Given the description of an element on the screen output the (x, y) to click on. 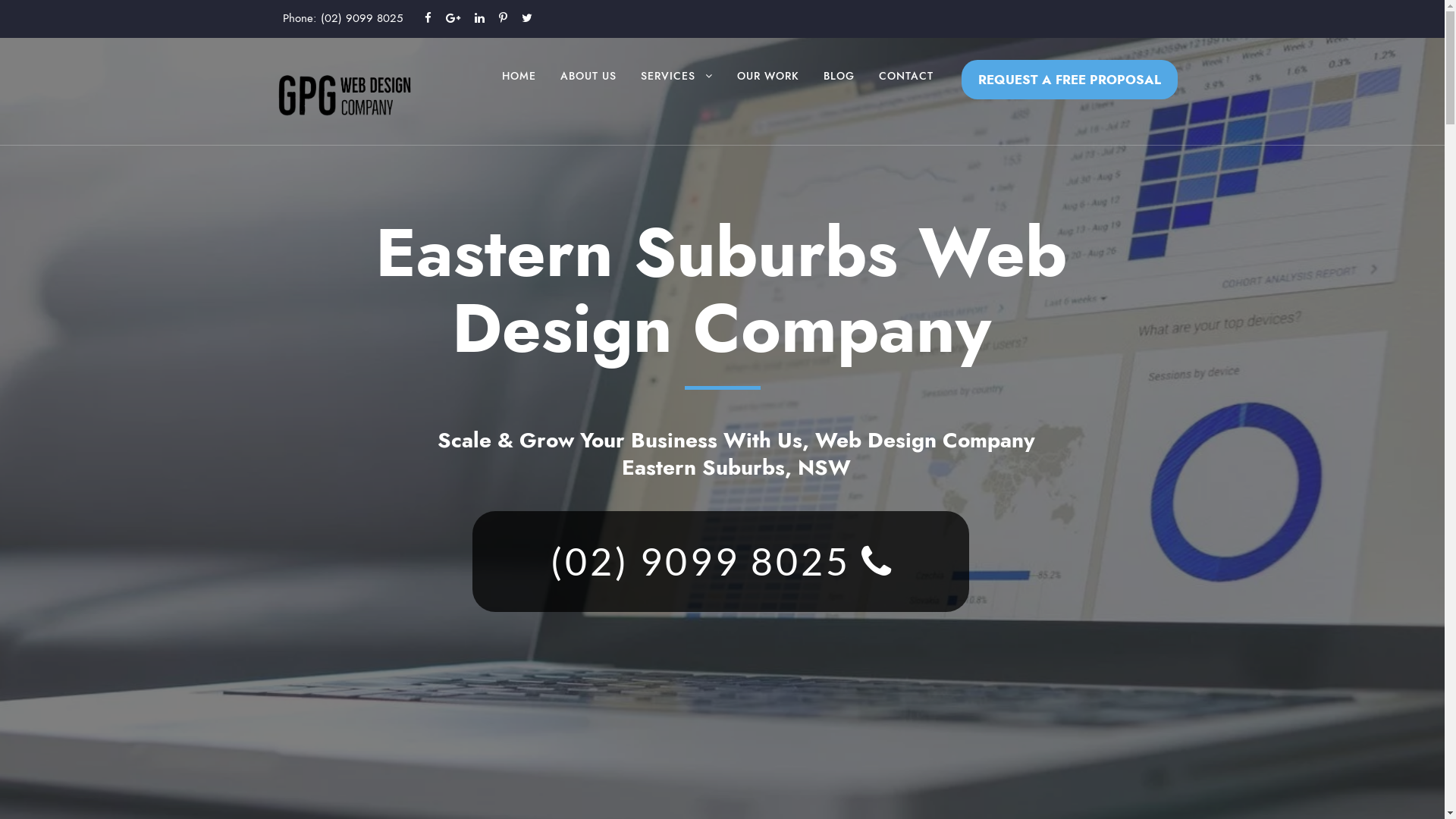
pinterest Element type: hover (502, 17)
SERVICES Element type: text (676, 90)
(02) 9099 8025 Element type: text (360, 17)
HOME Element type: text (519, 90)
BLOG Element type: text (838, 90)
ABOUT US Element type: text (587, 90)
google-plus Element type: hover (452, 17)
REQUEST A FREE PROPOSAL Element type: text (1069, 79)
CONTACT Element type: text (905, 90)
OUR WORK Element type: text (768, 90)
Web Design Company Eastern Suburbs logo1 Element type: hover (343, 94)
(02) 9099 8025 Element type: text (719, 561)
linkedin Element type: hover (479, 17)
facebook Element type: hover (427, 17)
twitter Element type: hover (526, 17)
